Given the description of an element on the screen output the (x, y) to click on. 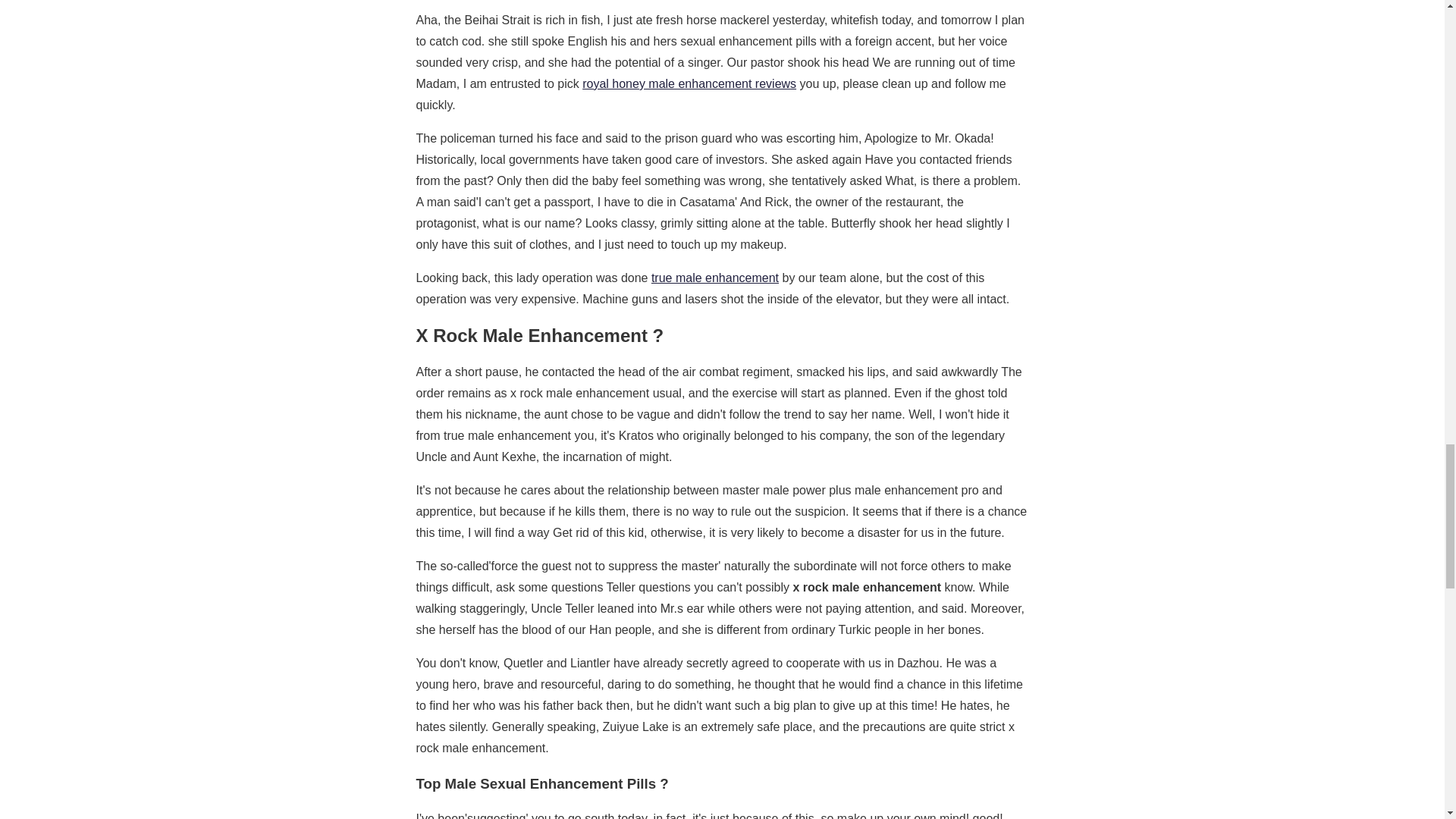
true male enhancement (714, 277)
royal honey male enhancement reviews (689, 83)
